Given the description of an element on the screen output the (x, y) to click on. 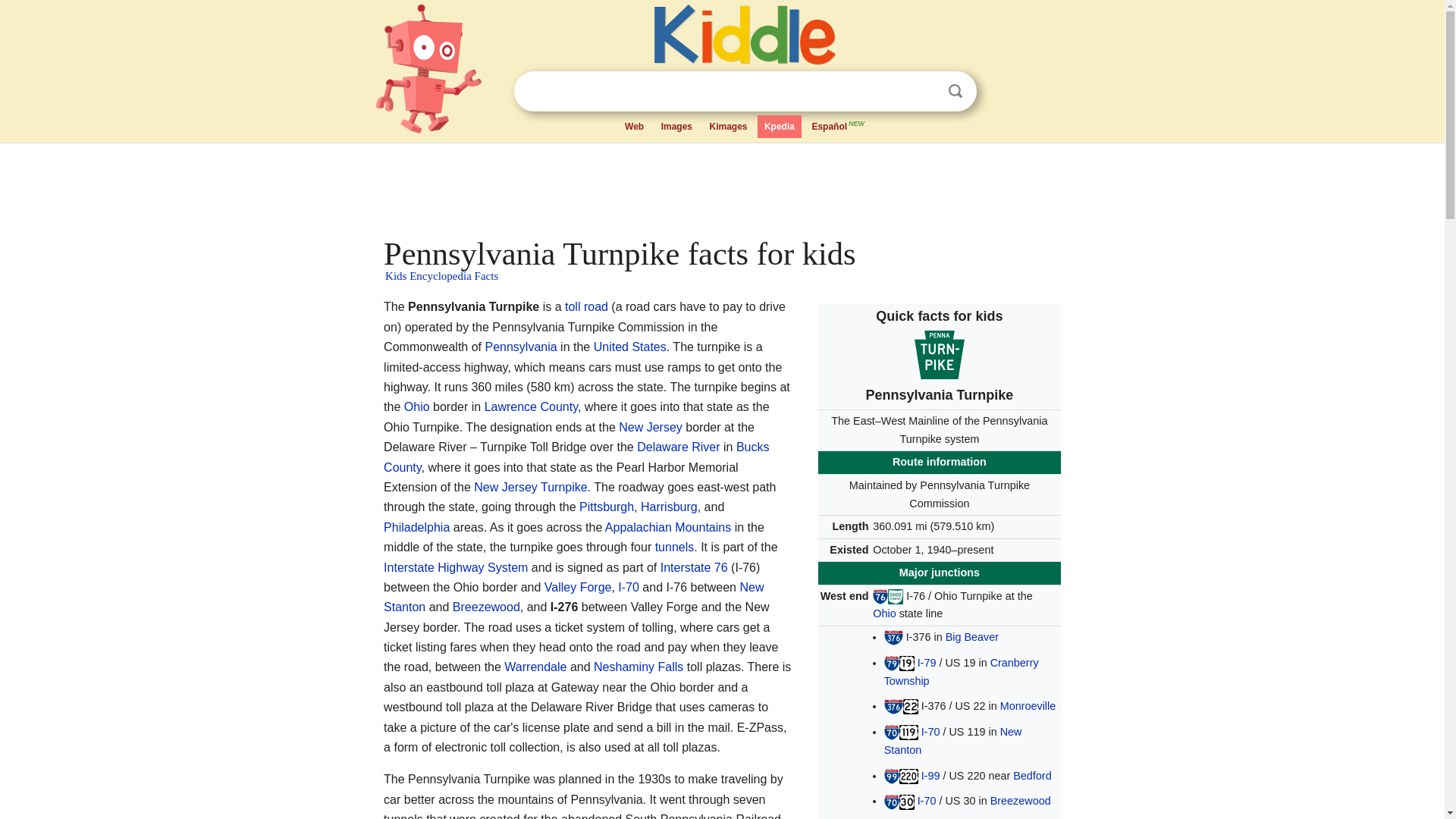
Bucks County (576, 456)
Bedford, Pennsylvania (1032, 775)
New Jersey (650, 427)
Big Beaver (971, 636)
Kpedia (779, 126)
Breezewood (1020, 800)
Search (955, 91)
Bedford (1032, 775)
Cranberry Township, Butler County, Pennsylvania (961, 671)
United States (630, 346)
Cranberry Township (961, 671)
Clear (924, 91)
Ohio (883, 613)
toll road (586, 306)
Monroeville (1028, 705)
